Given the description of an element on the screen output the (x, y) to click on. 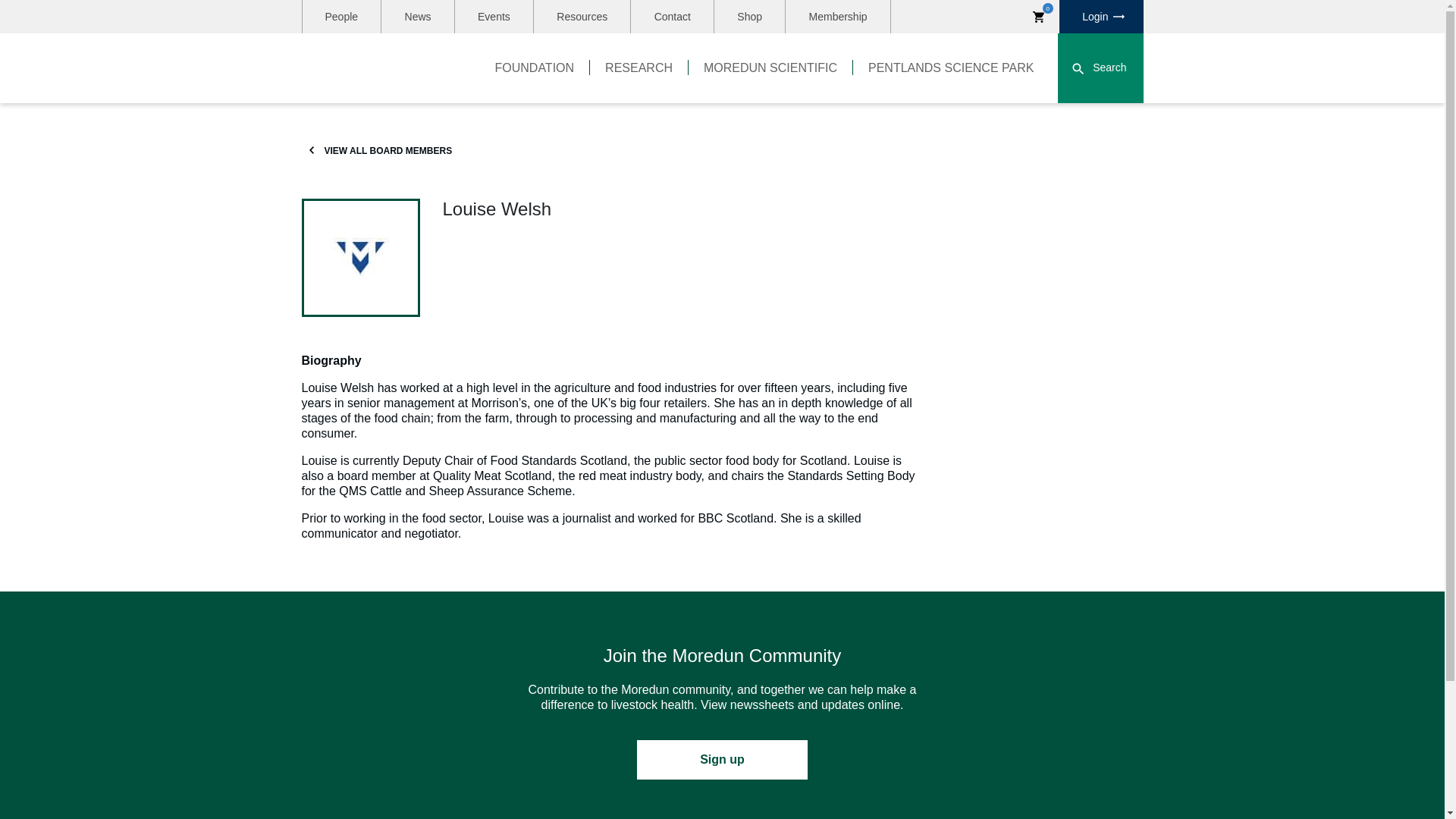
Resources (582, 16)
  0 (1038, 16)
Login (1100, 16)
RESEARCH (638, 68)
People (340, 16)
Membership (837, 16)
Shop (749, 16)
FOUNDATION (535, 68)
Contact (672, 16)
Go back to the home page (379, 68)
